Given the description of an element on the screen output the (x, y) to click on. 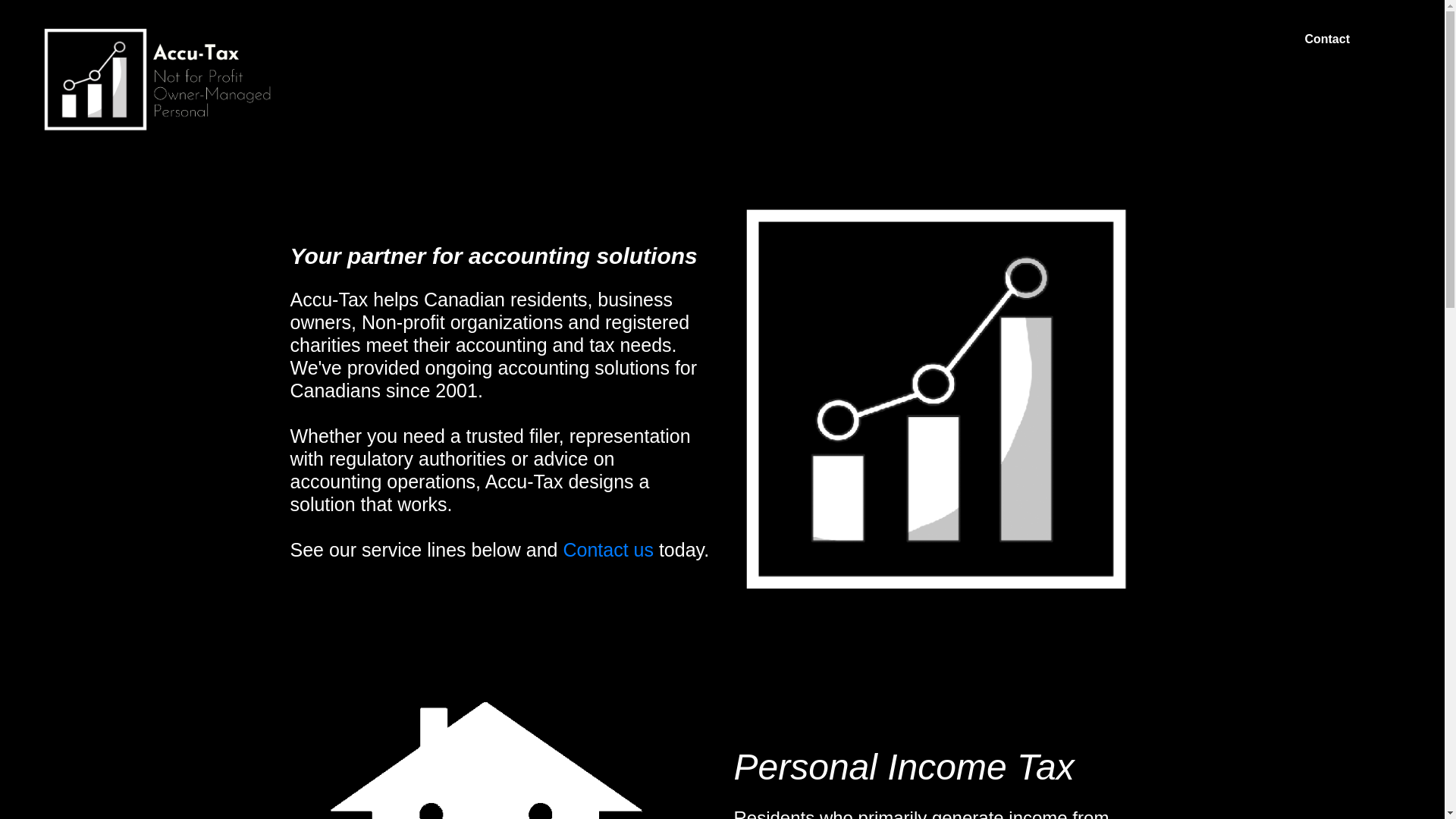
Contact us Element type: text (604, 549)
Contact Element type: text (1326, 39)
